Given the description of an element on the screen output the (x, y) to click on. 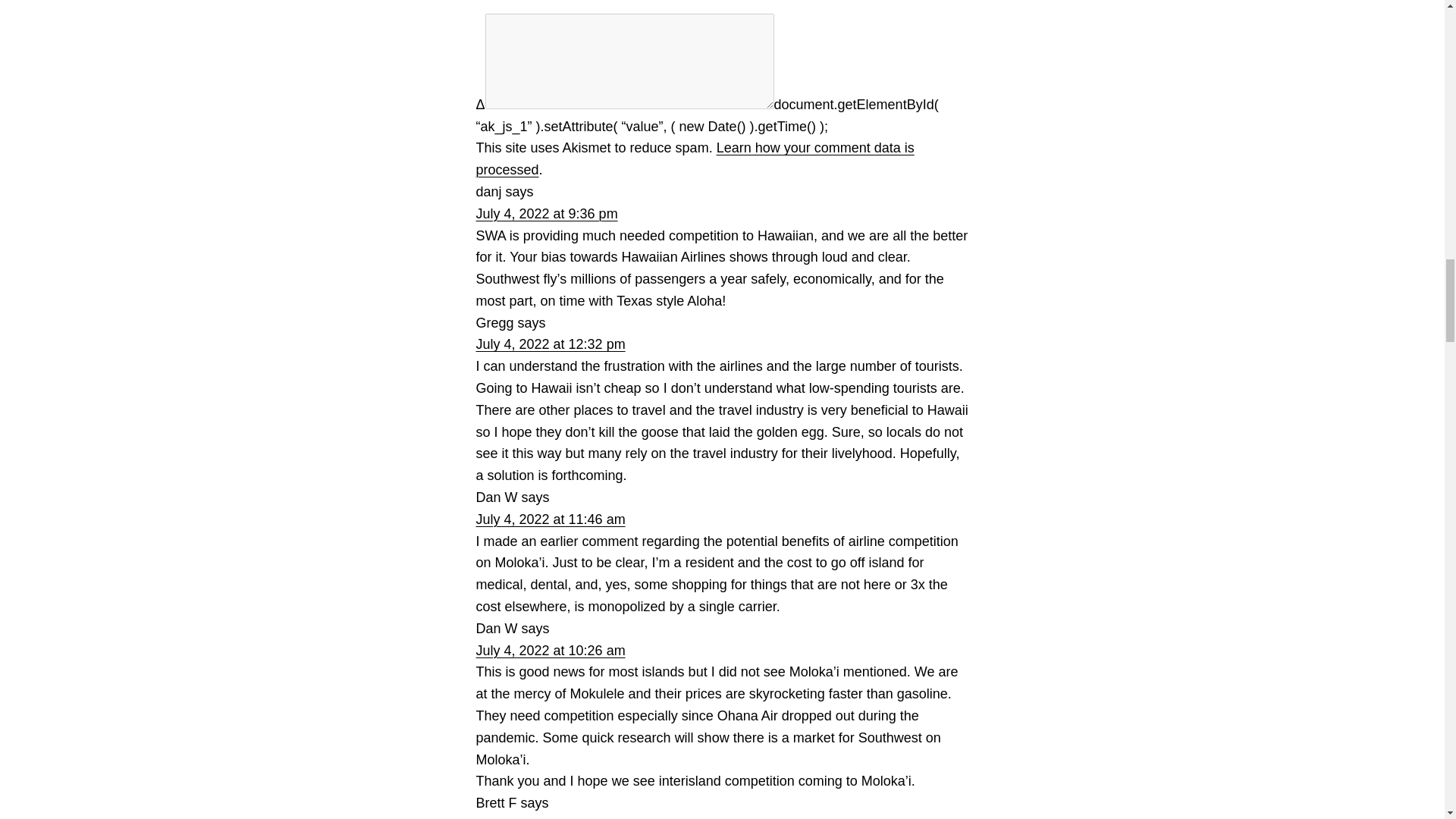
July 4, 2022 at 8:03 am (546, 818)
July 4, 2022 at 10:26 am (551, 650)
Learn how your comment data is processed (695, 158)
July 4, 2022 at 11:46 am (551, 519)
July 4, 2022 at 9:36 pm (546, 213)
July 4, 2022 at 12:32 pm (551, 344)
